Given the description of an element on the screen output the (x, y) to click on. 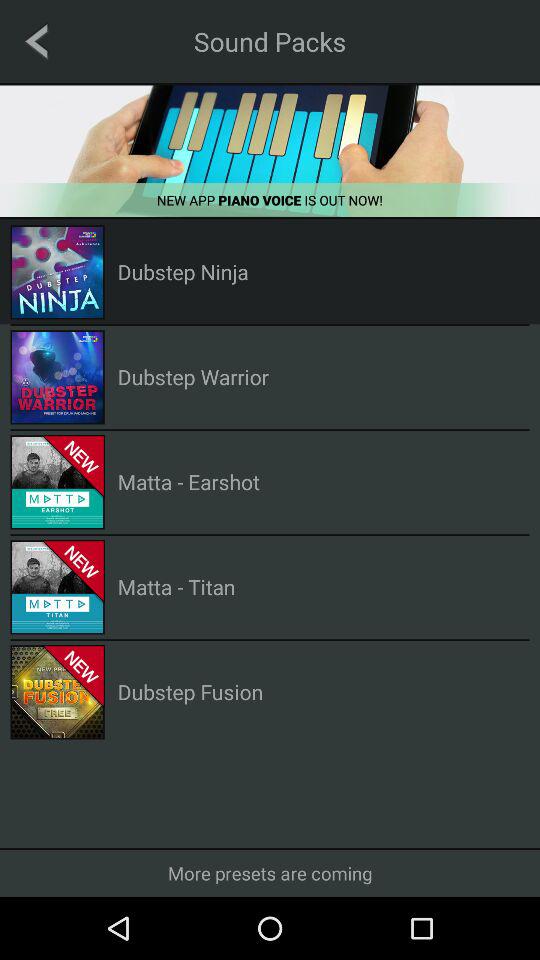
go back (36, 41)
